Given the description of an element on the screen output the (x, y) to click on. 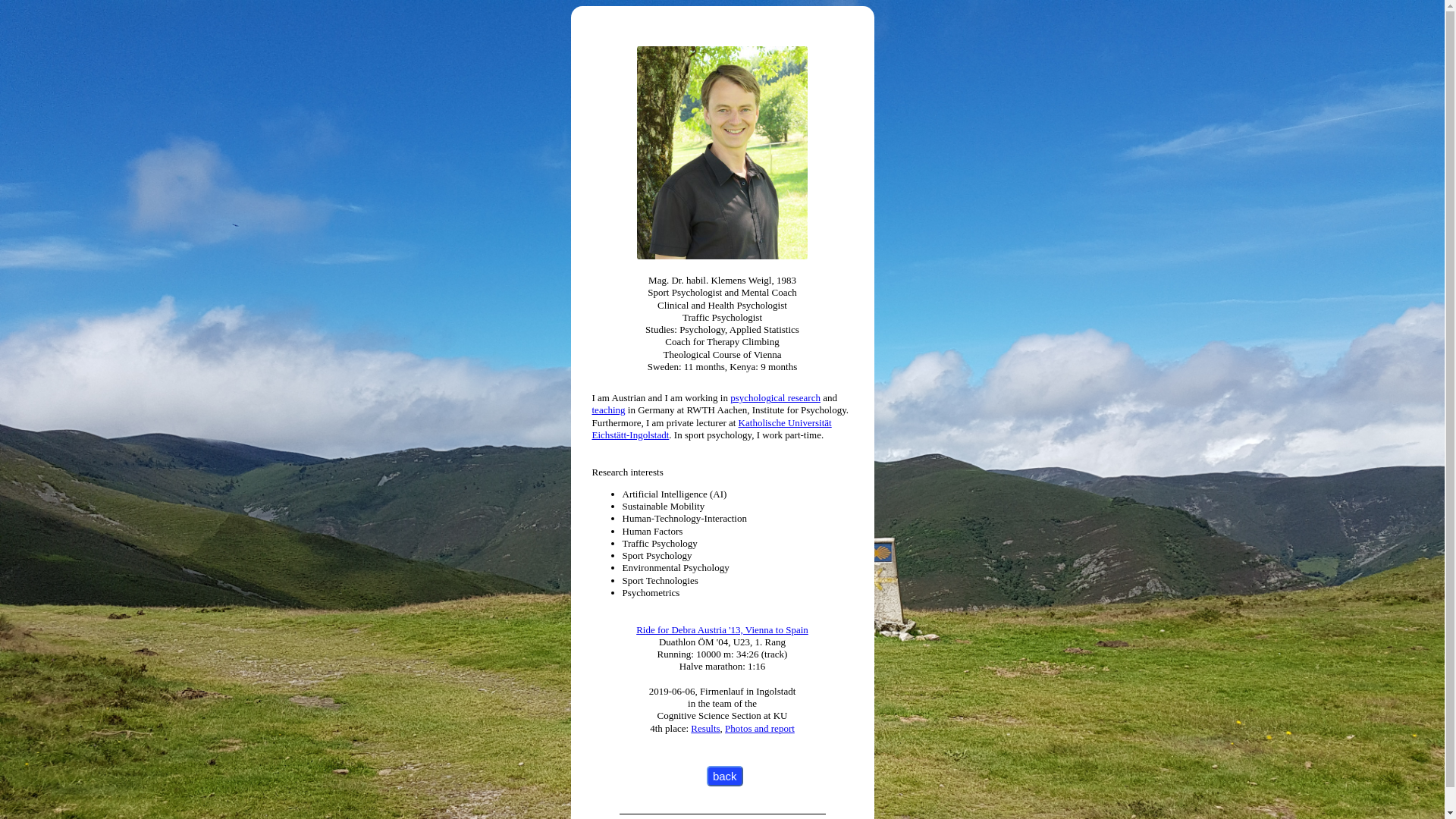
psychological research Element type: text (775, 397)
teaching Element type: text (607, 409)
back Element type: text (724, 775)
Photos and report Element type: text (759, 727)
Results Element type: text (704, 727)
Ride for Debra Austria '13, Vienna to Spain Element type: text (722, 628)
back Element type: text (724, 776)
